Given the description of an element on the screen output the (x, y) to click on. 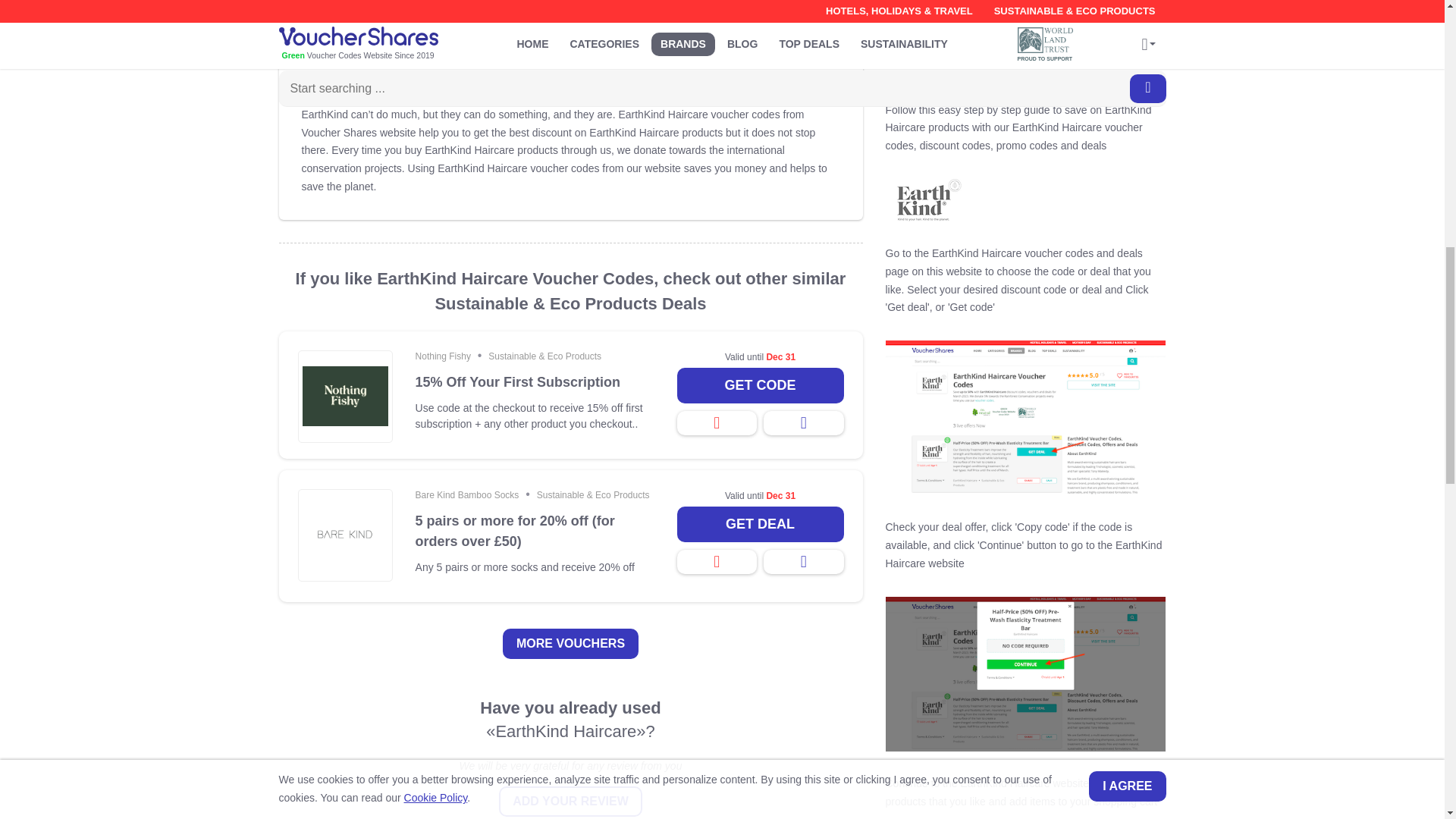
MORE VOUCHERS (570, 643)
Bare Kind Bamboo Socks (466, 494)
ADD YOUR REVIEW (570, 801)
Nothing Fishy (442, 356)
GET DEAL (760, 524)
GET CODE (760, 385)
Nothing Fishy (442, 356)
